Given the description of an element on the screen output the (x, y) to click on. 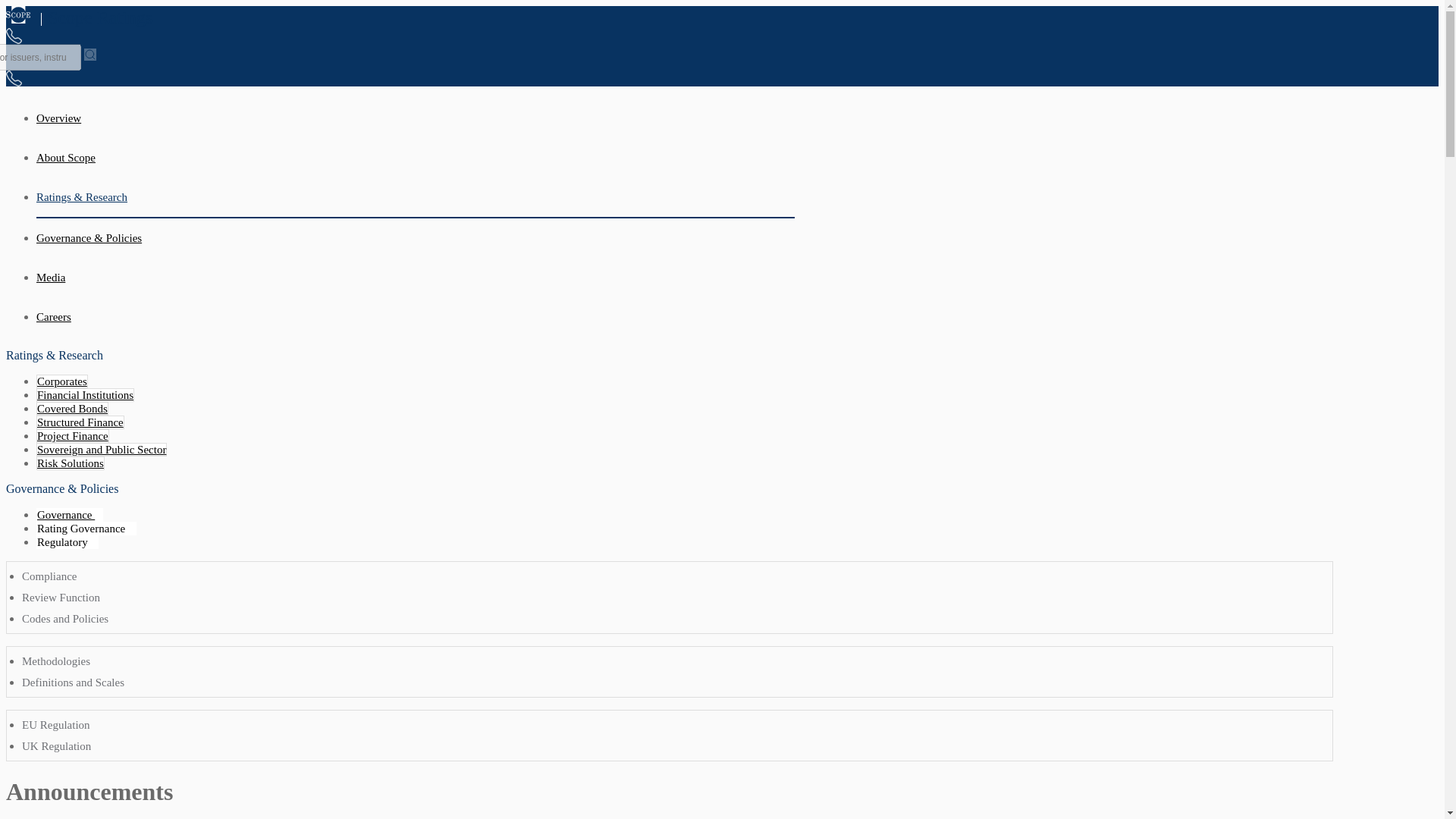
Structured Finance (79, 422)
Regulatory (67, 541)
Scope Ratings Sovereign and Public Sector (101, 449)
Corporates (61, 381)
Governance (69, 514)
Media (415, 277)
Definitions and Scales (72, 682)
Scope Ratings Corporates (61, 381)
About Scope (415, 157)
Codes and Policies (64, 618)
